Given the description of an element on the screen output the (x, y) to click on. 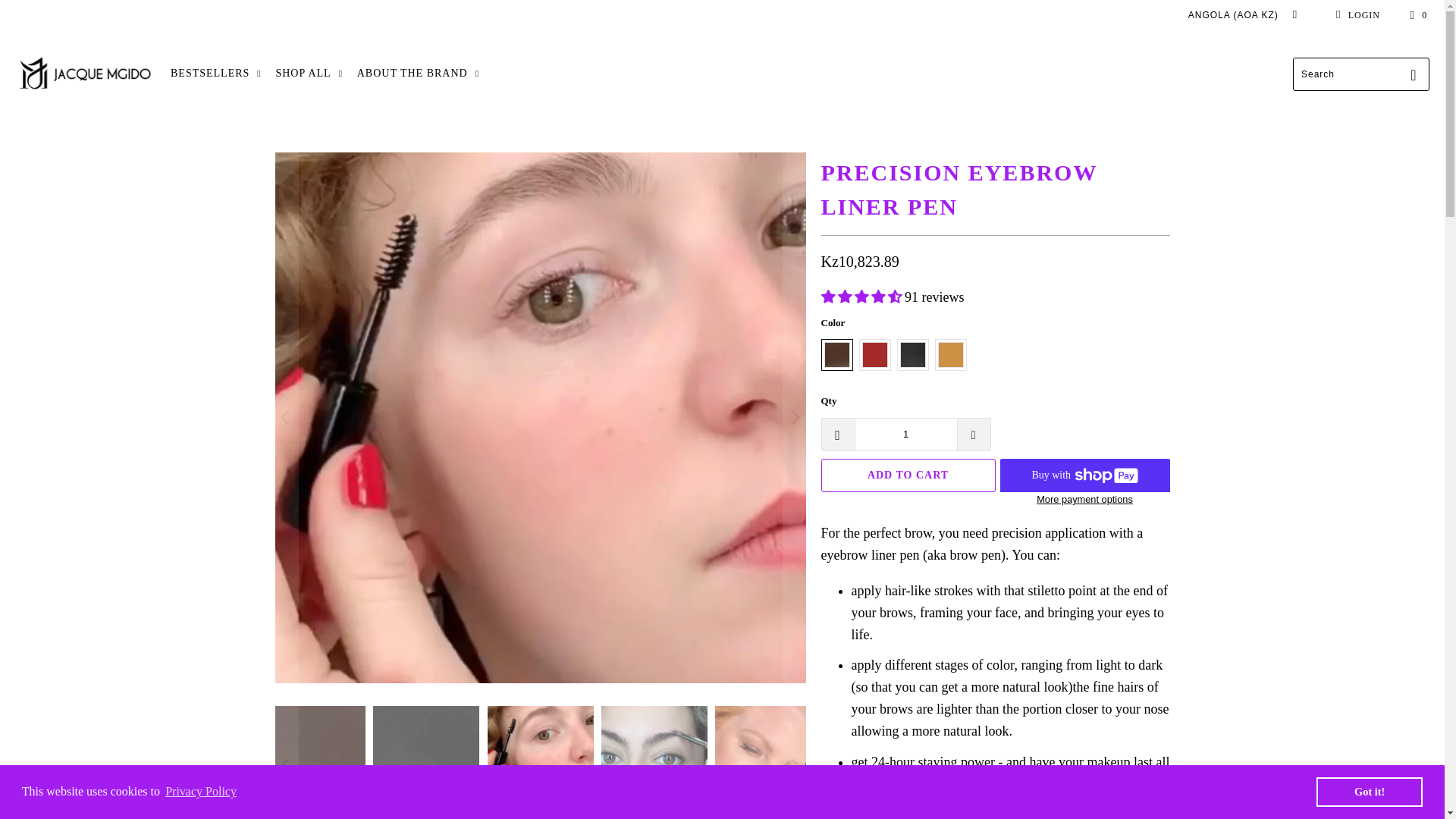
Privacy Policy (200, 791)
Got it! (1369, 791)
JacqueMgidoCosmetics (84, 73)
My Account  (1355, 15)
1 (904, 434)
